Given the description of an element on the screen output the (x, y) to click on. 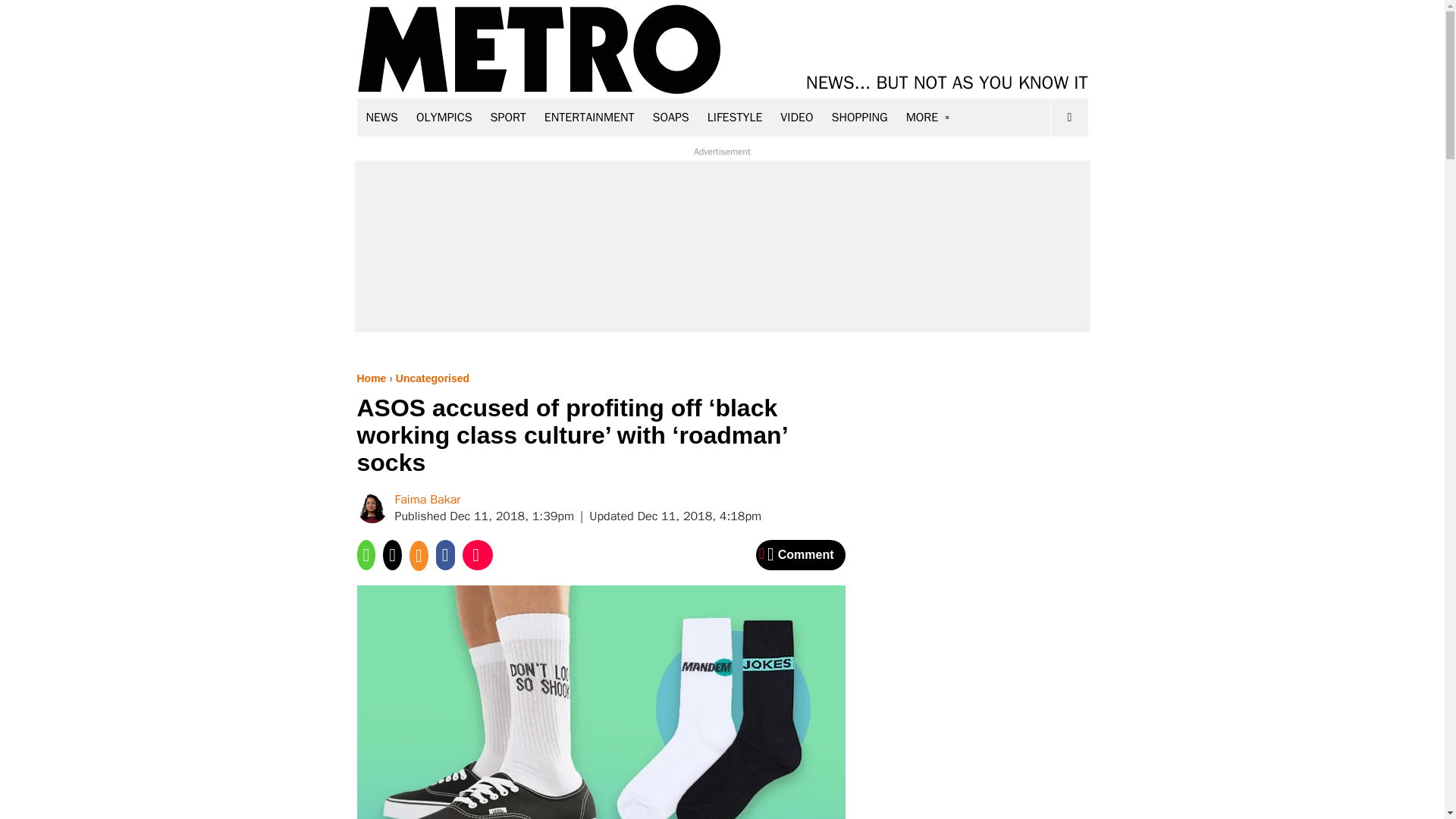
ENTERTAINMENT (589, 117)
NEWS (381, 117)
OLYMPICS (444, 117)
Metro (539, 50)
SOAPS (670, 117)
LIFESTYLE (734, 117)
SPORT (508, 117)
